Given the description of an element on the screen output the (x, y) to click on. 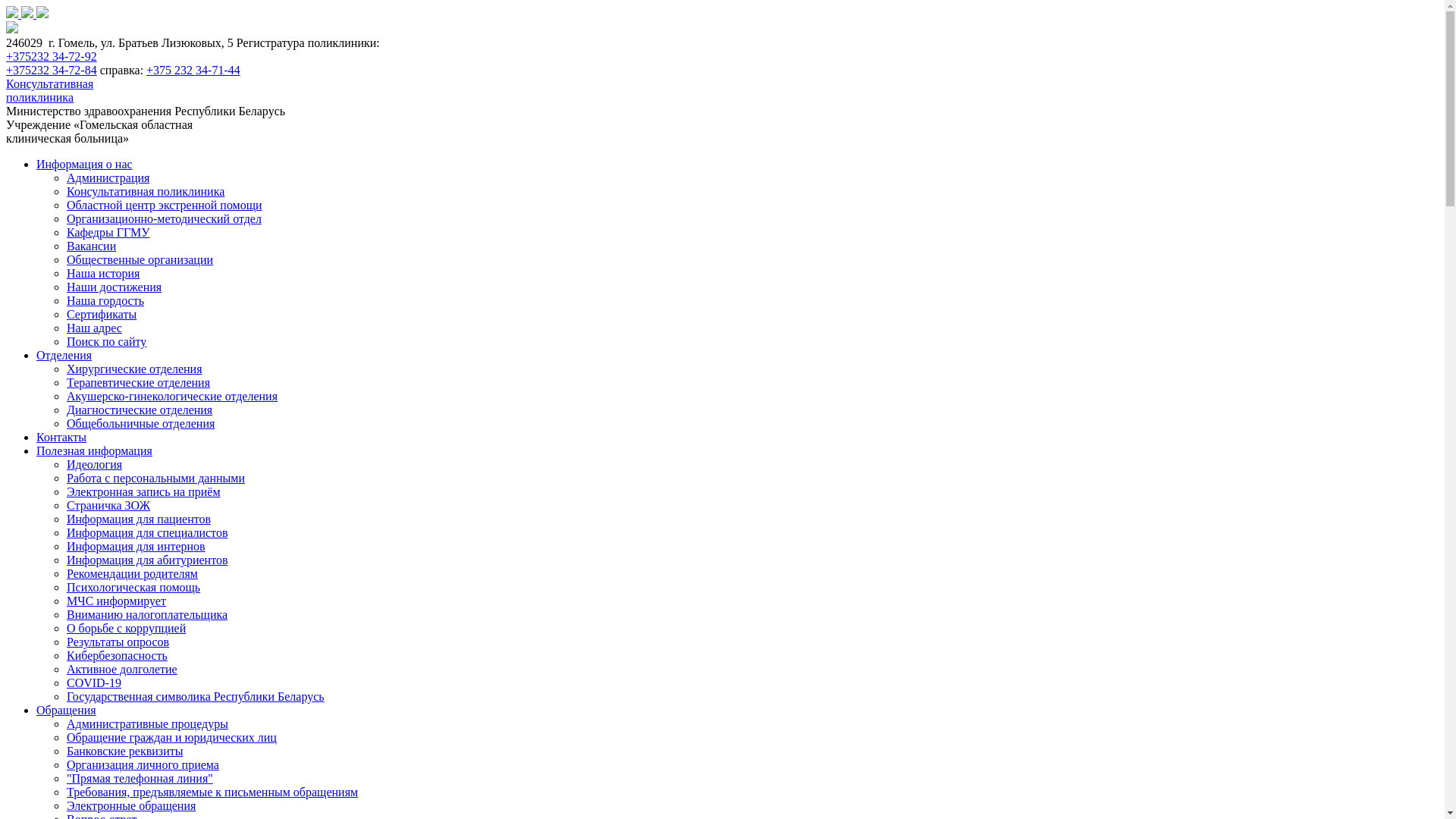
+375 232 34-71-44 Element type: text (193, 69)
+375232 34-72-84 Element type: text (51, 69)
COVID-19 Element type: text (93, 682)
+375232 34-72-92 Element type: text (51, 56)
